Given the description of an element on the screen output the (x, y) to click on. 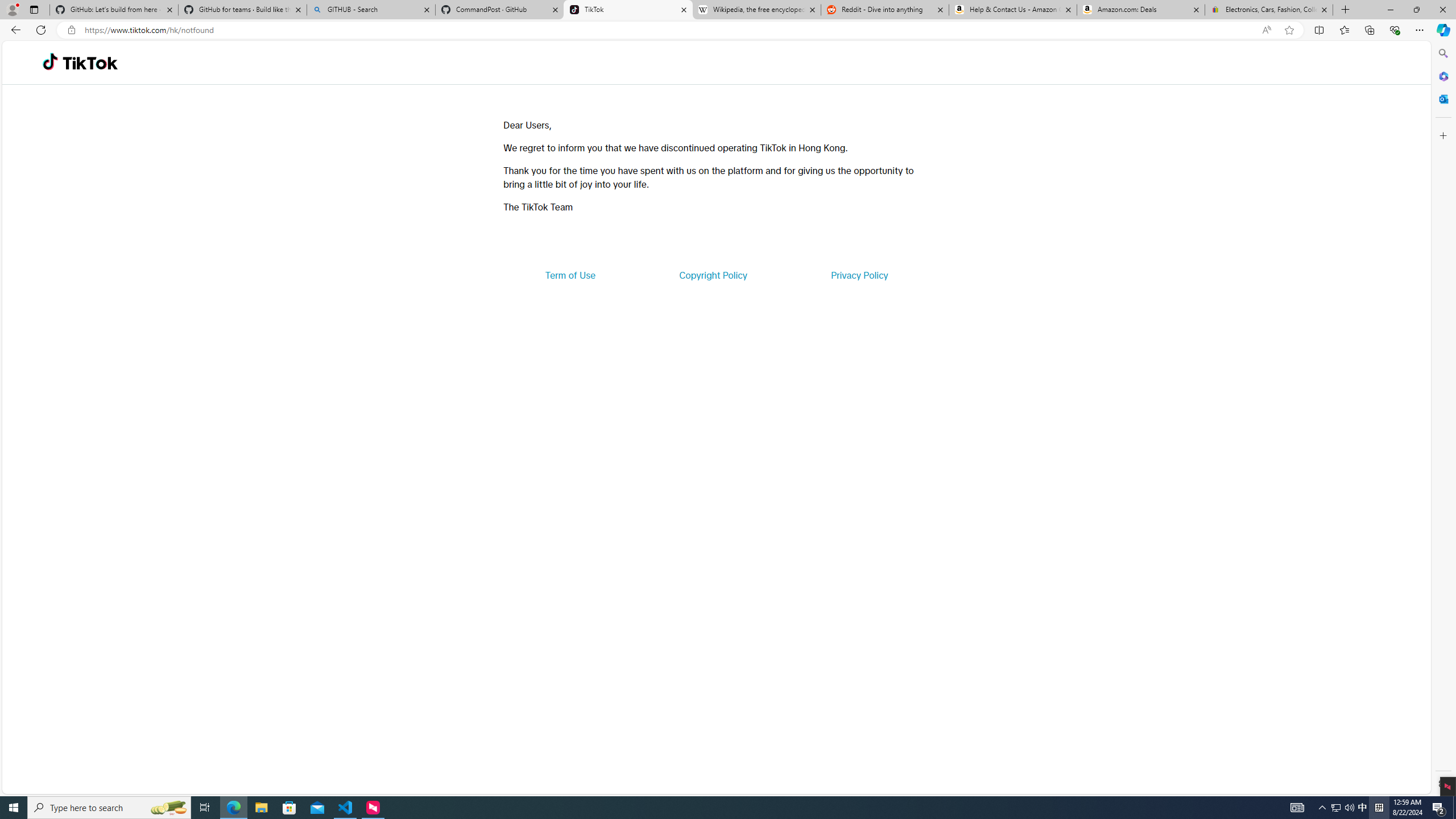
Amazon.com: Deals (1140, 9)
Term of Use (569, 274)
Wikipedia, the free encyclopedia (756, 9)
